Given the description of an element on the screen output the (x, y) to click on. 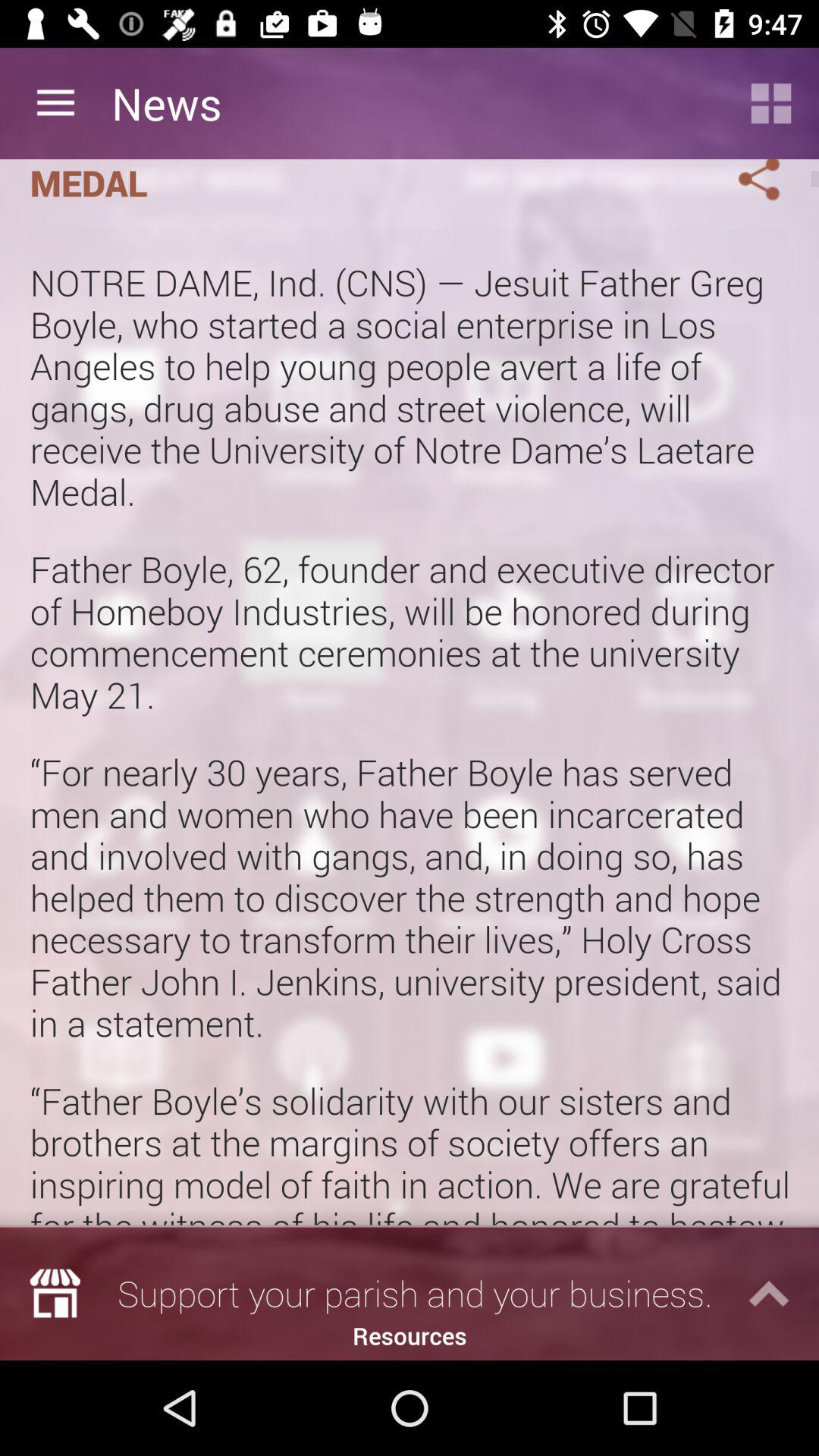
swipe until homeboy industries founder icon (361, 183)
